Given the description of an element on the screen output the (x, y) to click on. 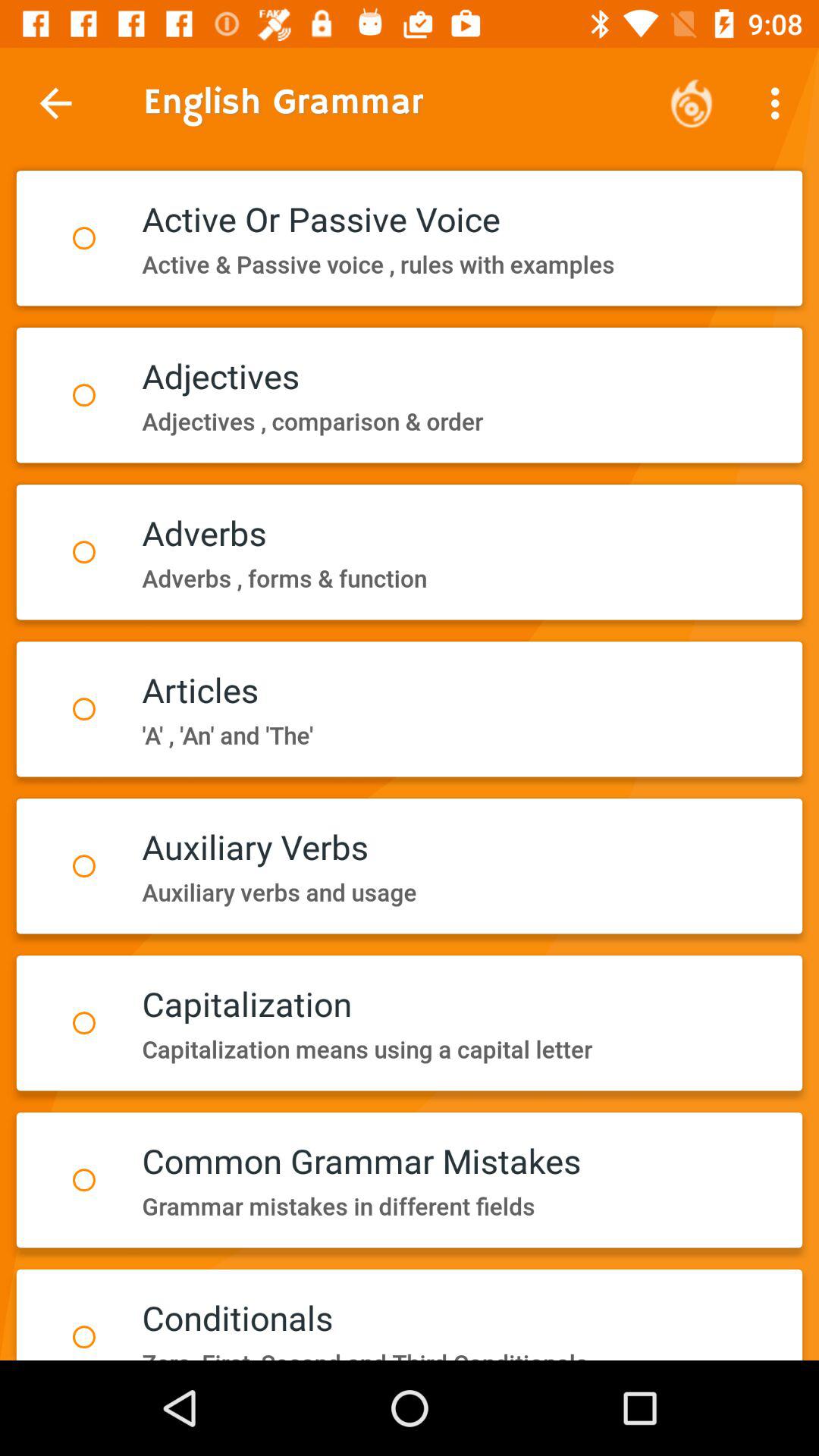
launch the item next to english grammar (691, 103)
